Given the description of an element on the screen output the (x, y) to click on. 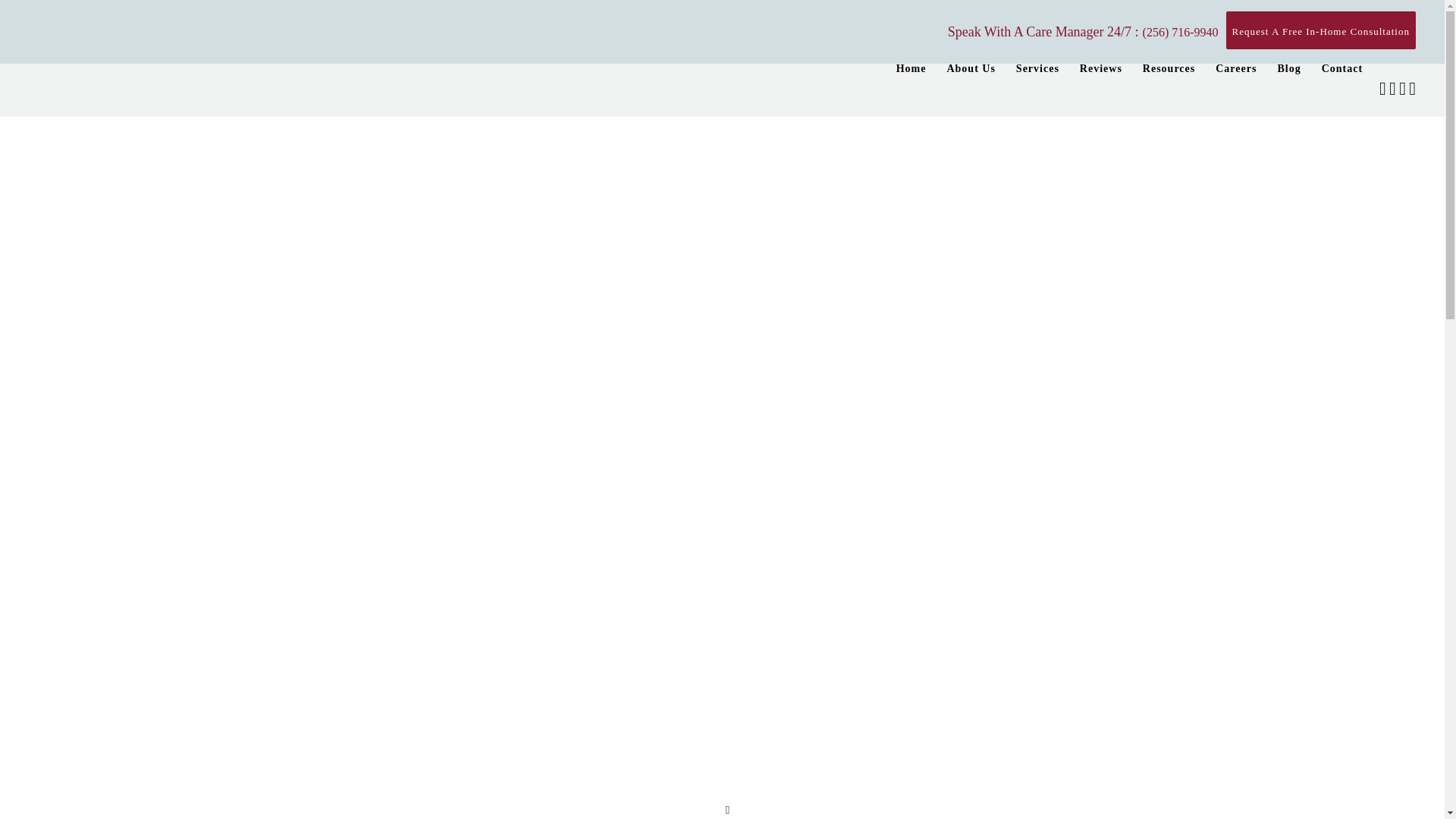
Request A Free In-Home Consultation (1320, 30)
Services (1037, 68)
Reviews (1101, 68)
Resources (1168, 68)
Home (911, 68)
About Us (970, 68)
